Given the description of an element on the screen output the (x, y) to click on. 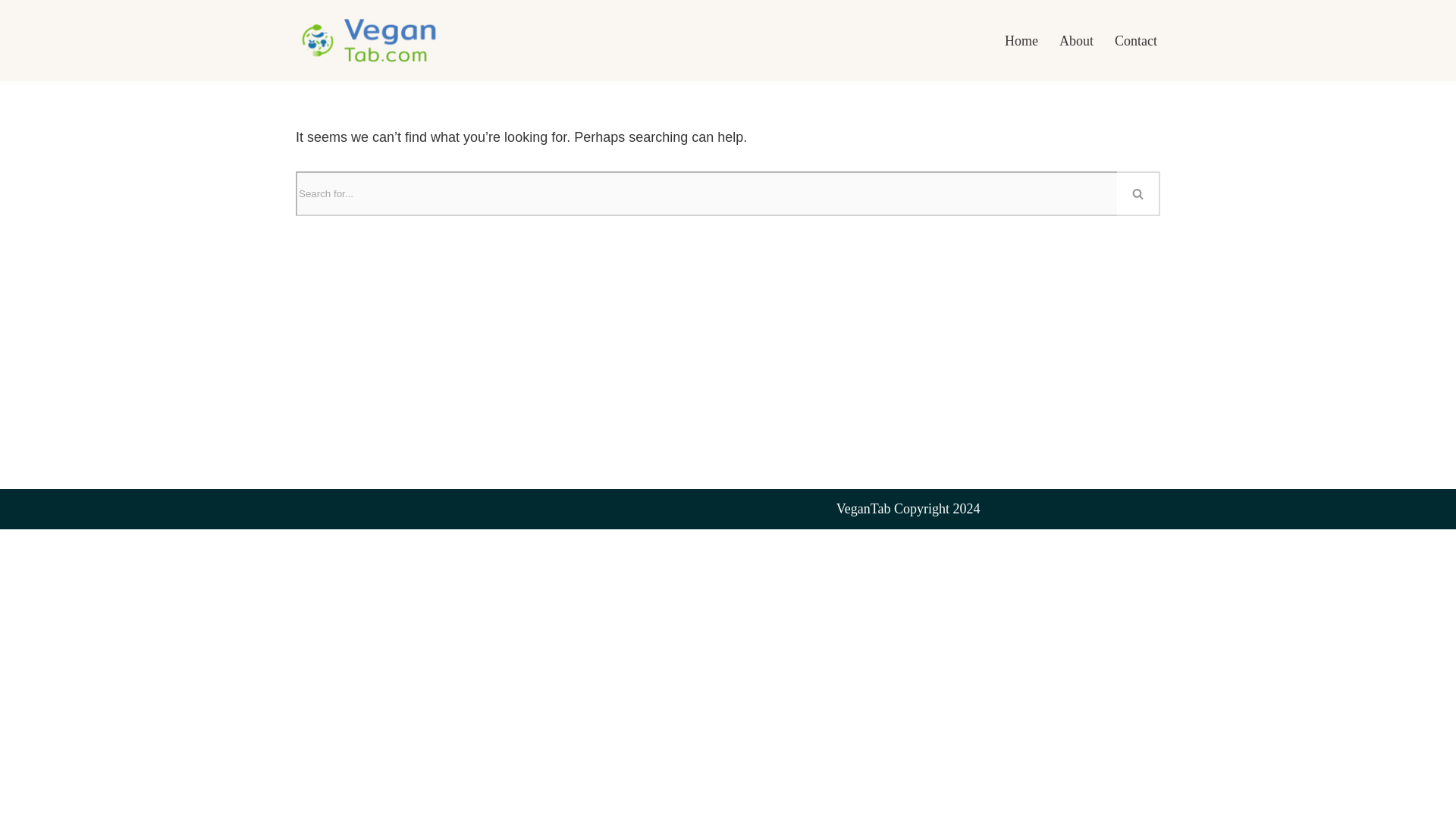
About (1076, 40)
Skip to content (11, 31)
Contact (1136, 40)
Home (1021, 40)
